Given the description of an element on the screen output the (x, y) to click on. 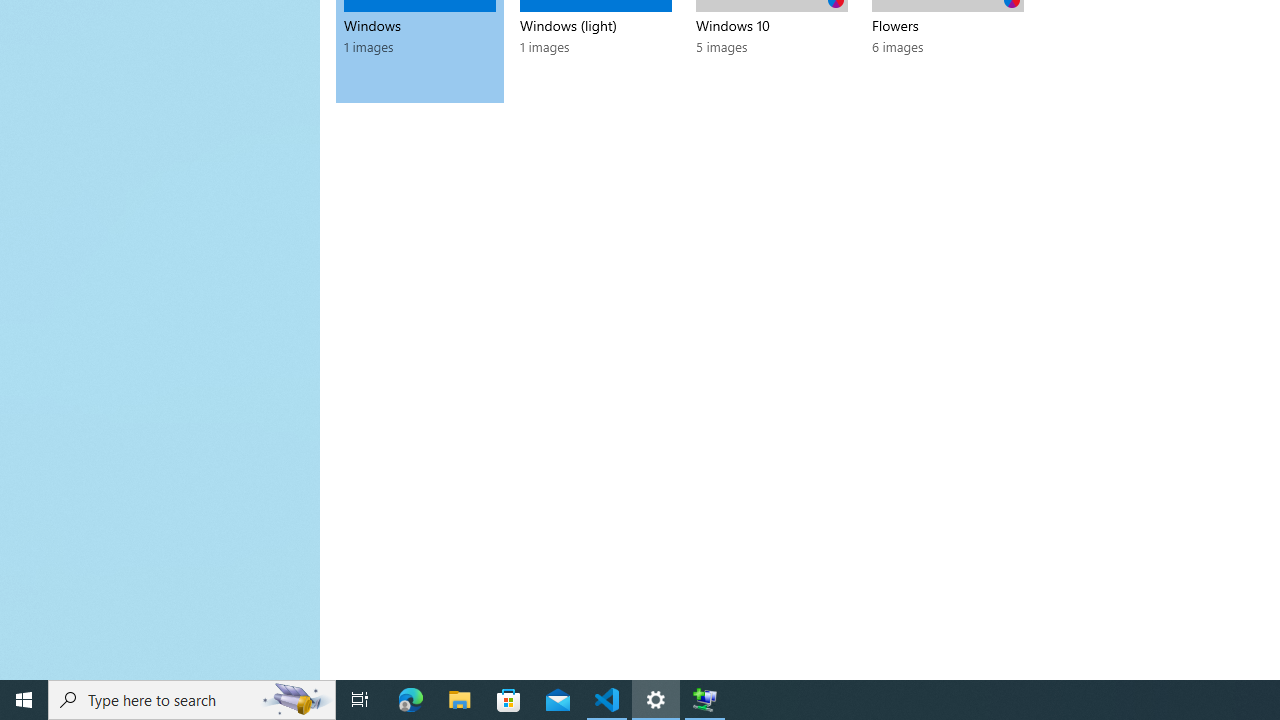
Extensible Wizards Host Process - 1 running window (704, 699)
Settings - 1 running window (656, 699)
